Given the description of an element on the screen output the (x, y) to click on. 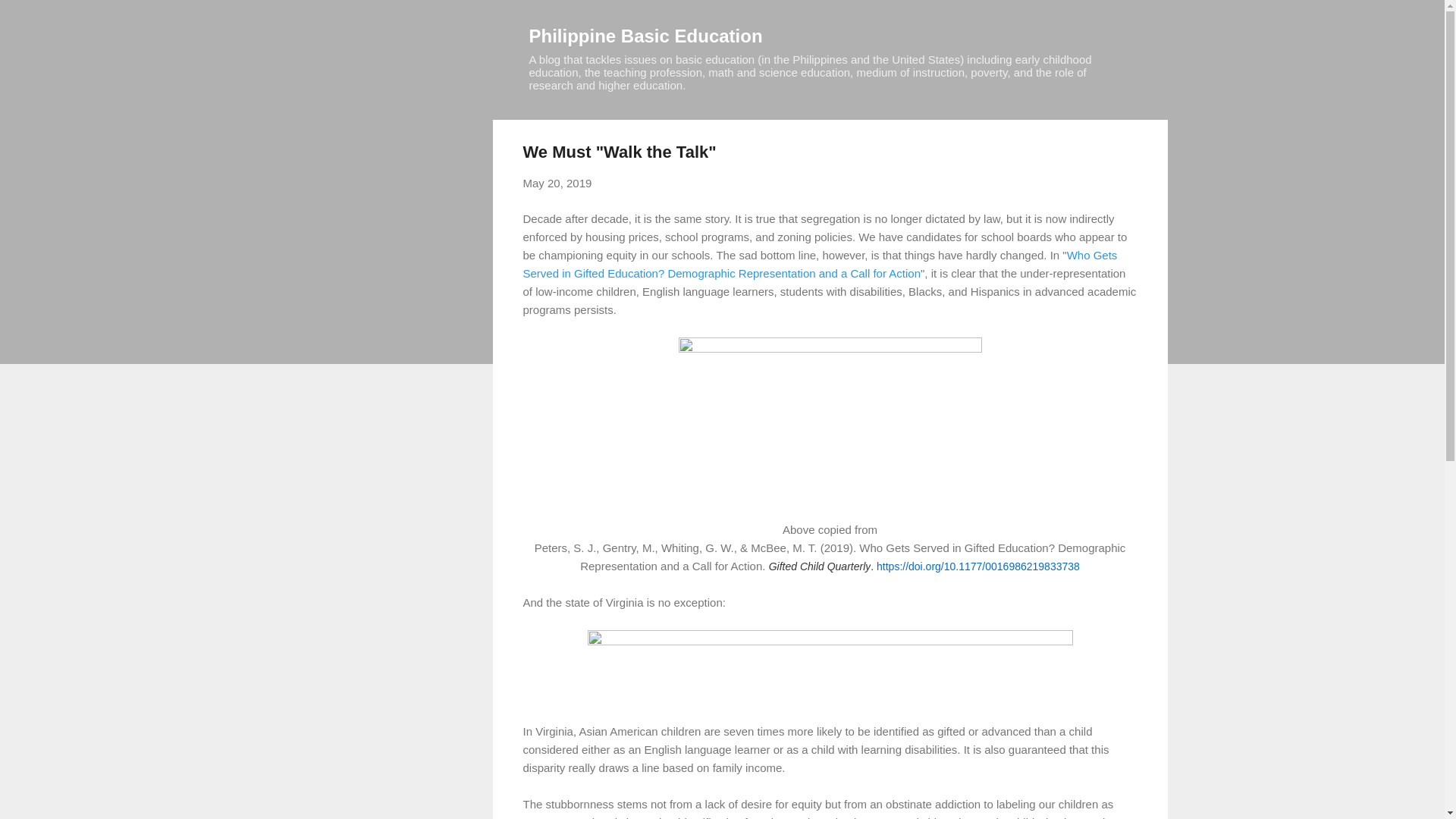
Search (29, 18)
permanent link (557, 182)
Philippine Basic Education (645, 35)
May 20, 2019 (557, 182)
